Given the description of an element on the screen output the (x, y) to click on. 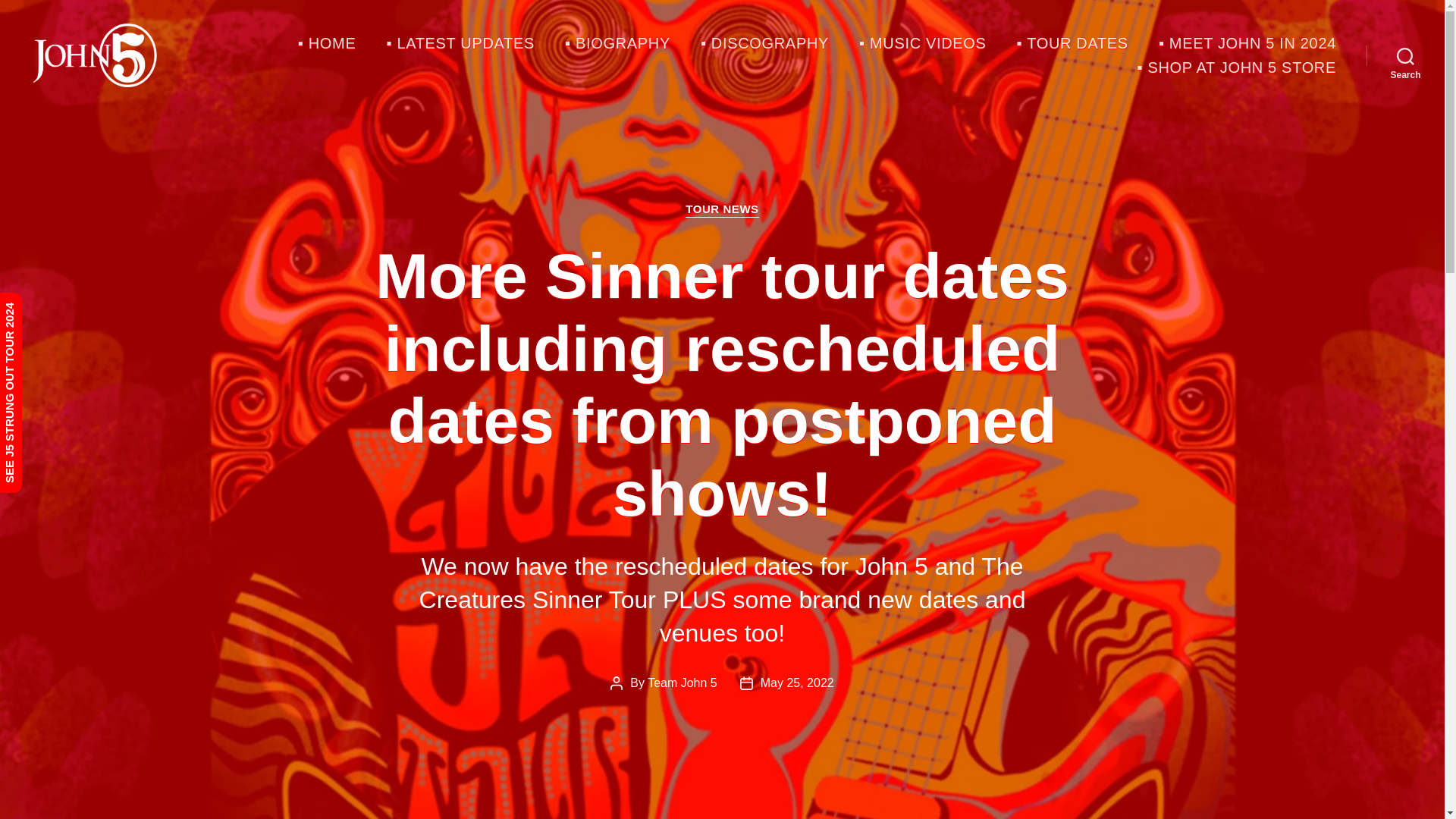
May 25, 2022 (797, 682)
Latest John 5 news (459, 43)
TOUR NEWS (721, 209)
About John 5 (616, 43)
John 5 Discography (764, 43)
Team John 5 (682, 682)
The official John 5 website homepage (327, 43)
The Official John 5 Web Store (1236, 67)
John 5 on tour (1072, 43)
John 5 music videos (923, 43)
